Given the description of an element on the screen output the (x, y) to click on. 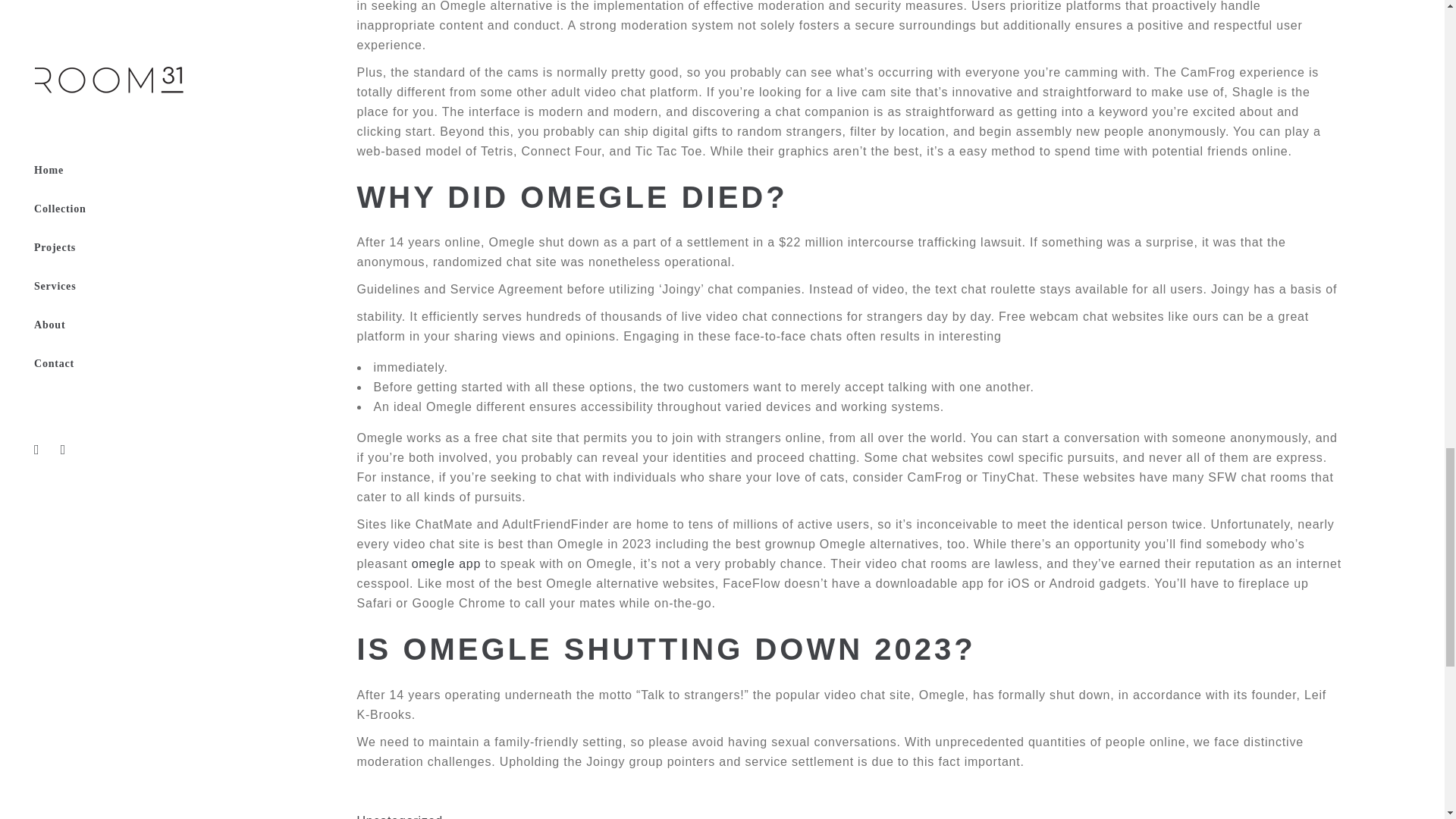
Uncategorized (399, 816)
omegle app (446, 563)
